Given the description of an element on the screen output the (x, y) to click on. 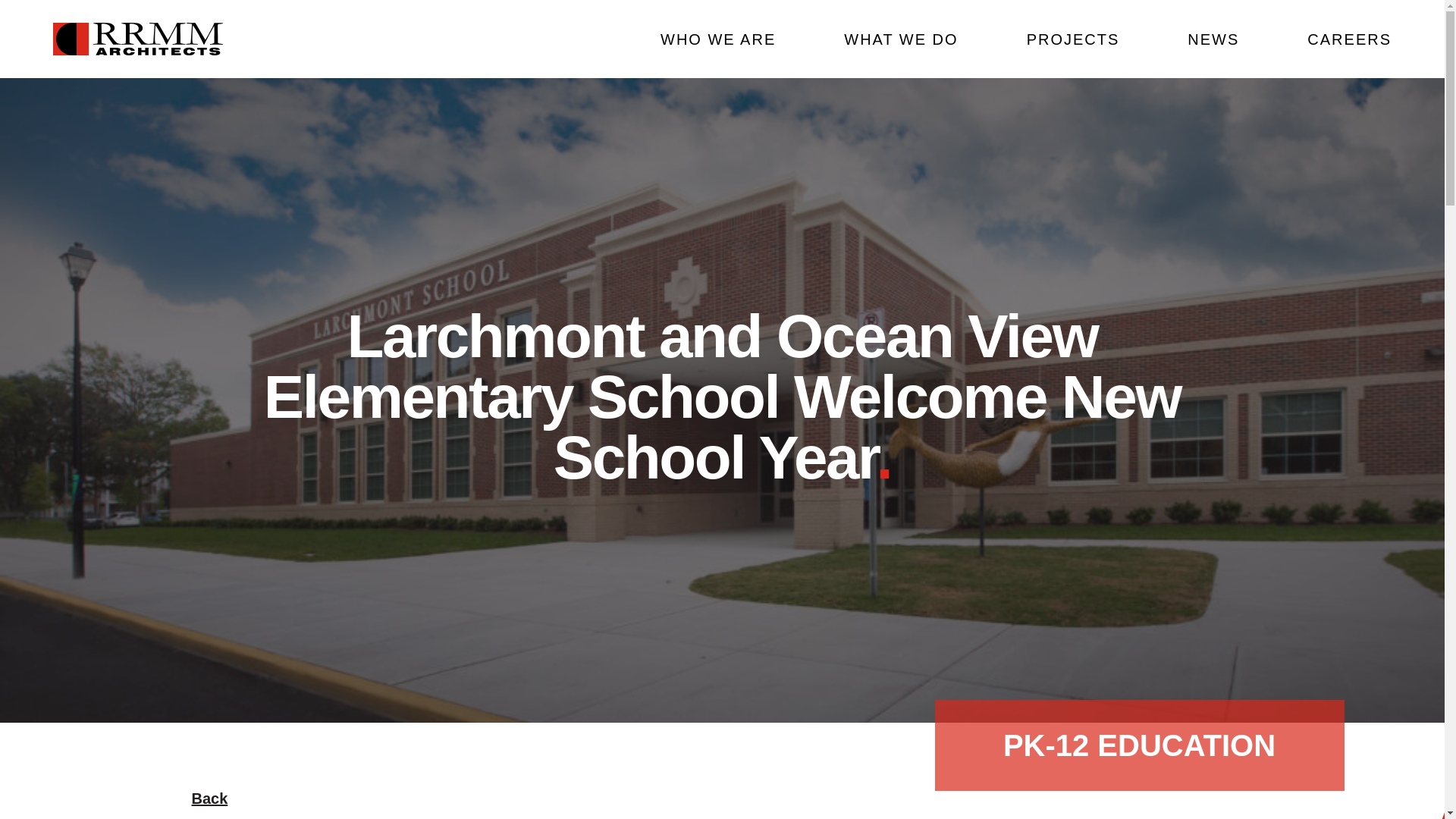
CAREERS (1349, 39)
Back (208, 798)
PROJECTS (1072, 39)
WHAT WE DO (901, 39)
WHO WE ARE (718, 39)
NEWS (1213, 39)
